Given the description of an element on the screen output the (x, y) to click on. 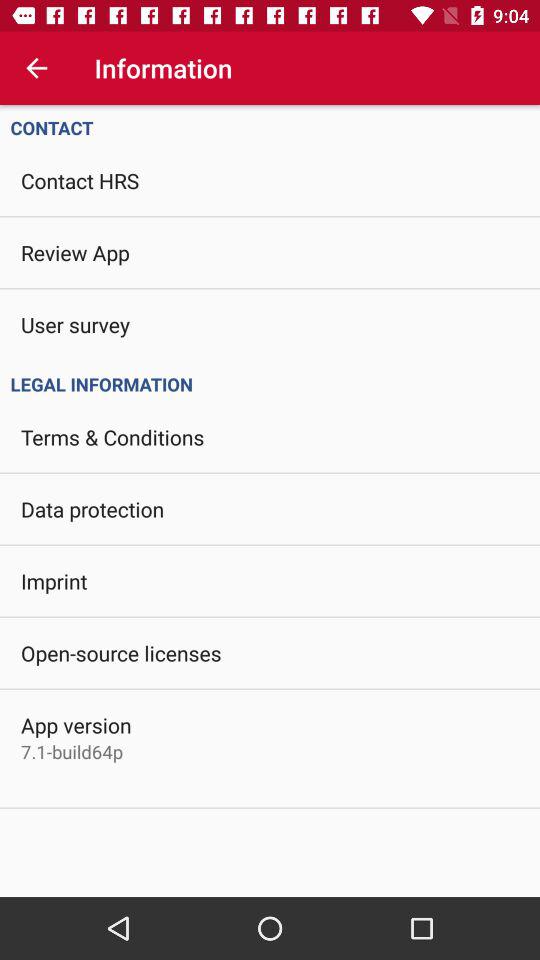
go back (36, 68)
